Given the description of an element on the screen output the (x, y) to click on. 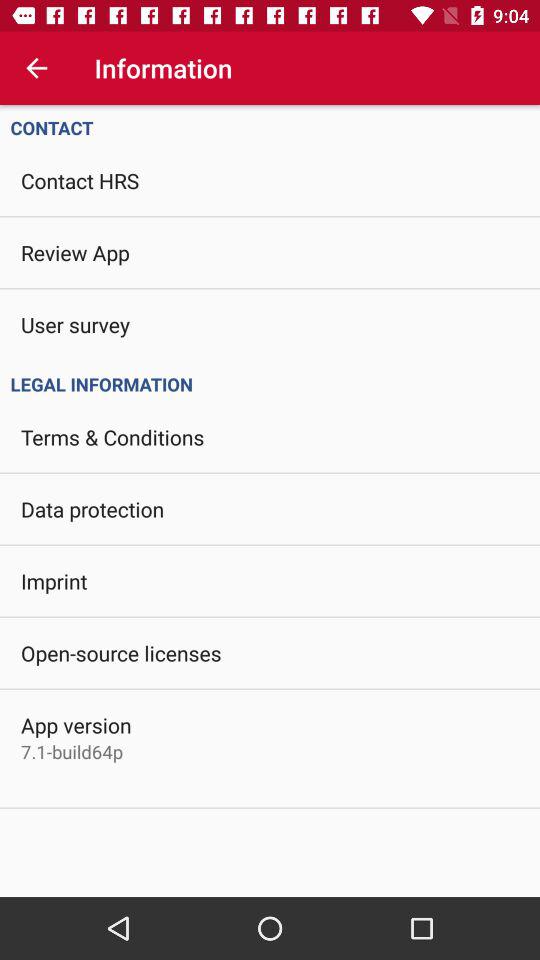
go back (36, 68)
